Given the description of an element on the screen output the (x, y) to click on. 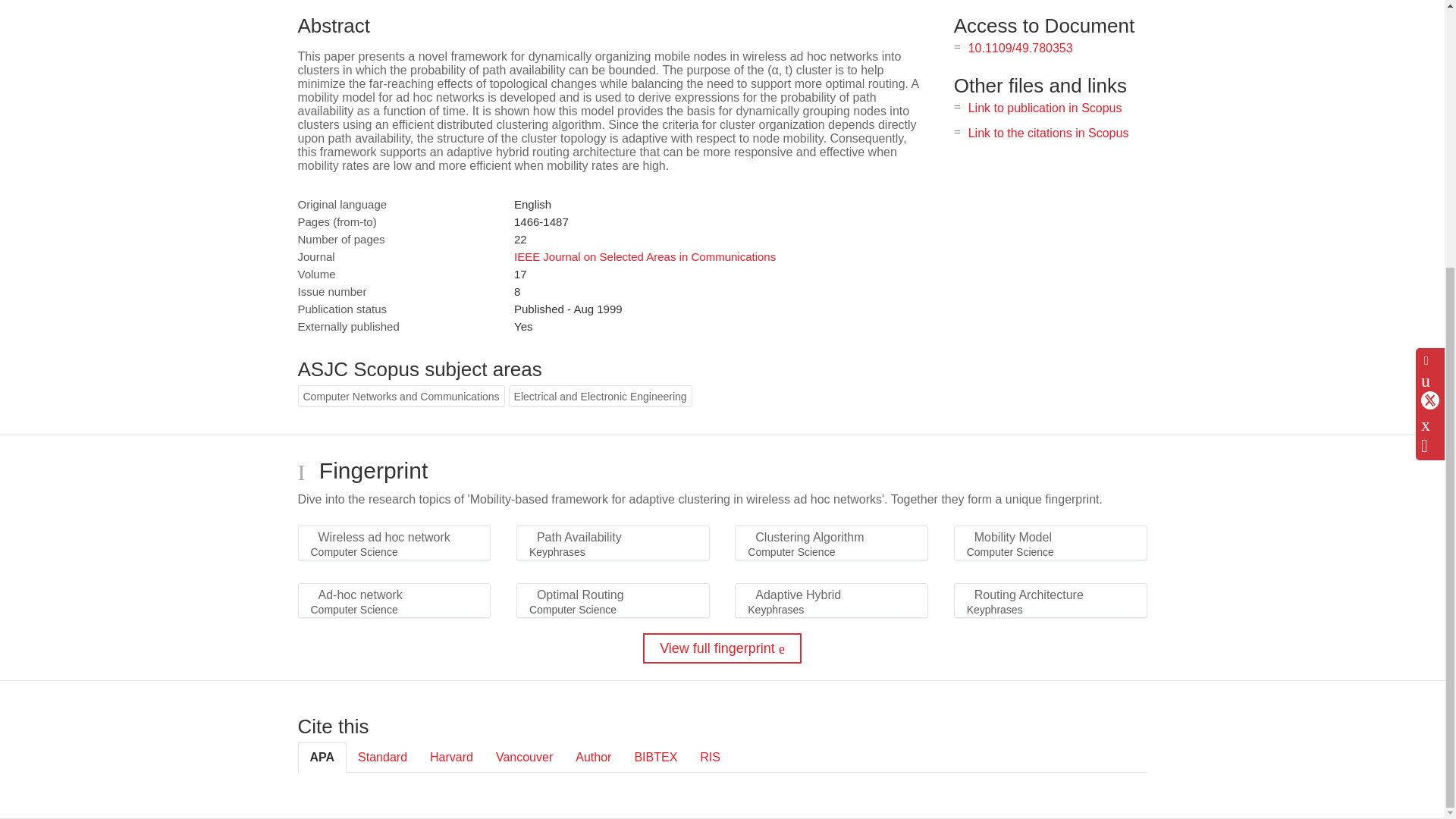
Link to publication in Scopus (1045, 107)
View full fingerprint (722, 648)
Link to the citations in Scopus (1048, 132)
IEEE Journal on Selected Areas in Communications (644, 256)
